Given the description of an element on the screen output the (x, y) to click on. 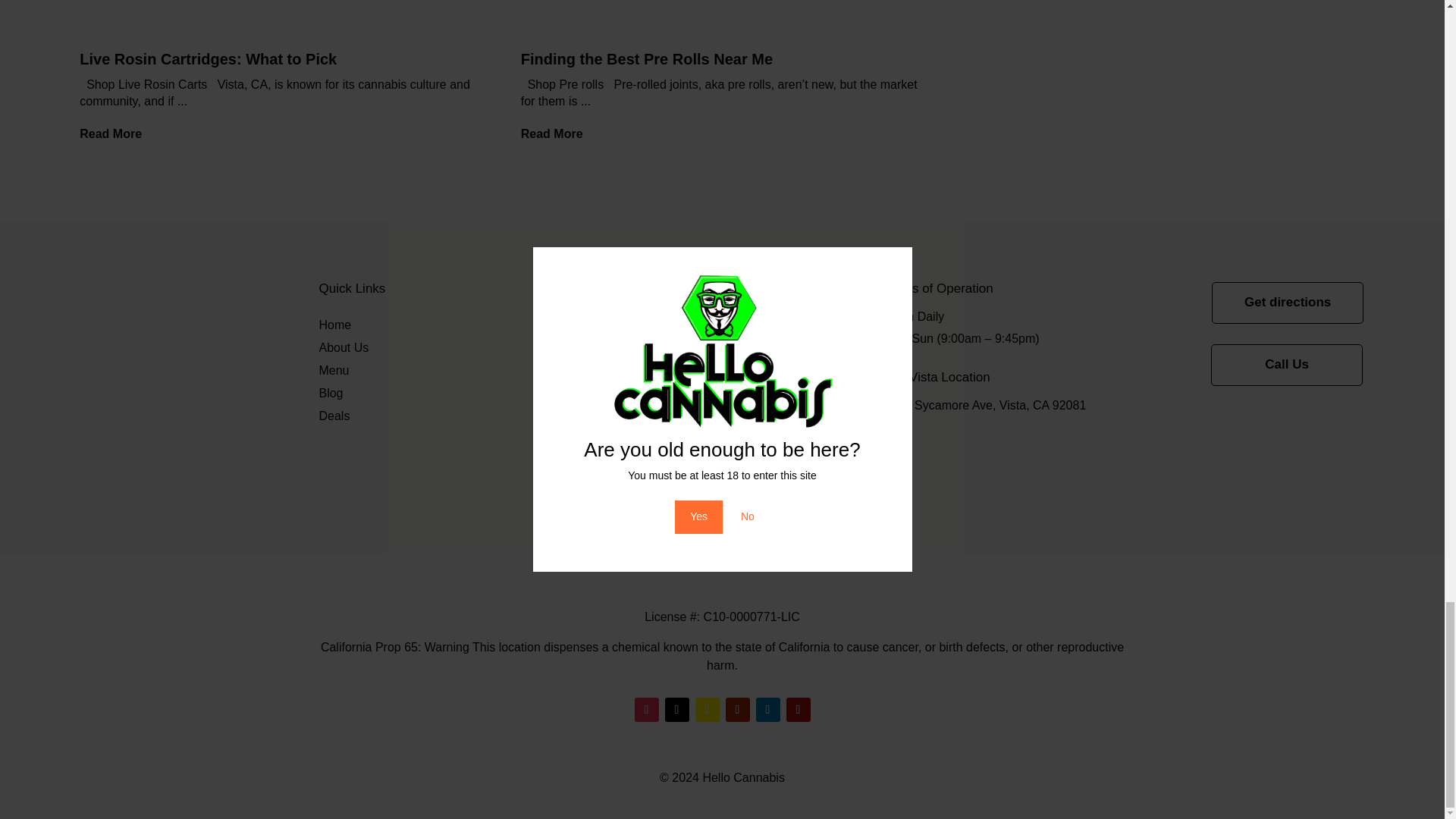
About Us (343, 351)
Follow on Snapchat (706, 709)
Follow on Instagram (645, 709)
Blog (330, 396)
Read More (117, 133)
Read More (558, 133)
Carlsbad (625, 324)
Hello Cannabis letters Logo (138, 383)
Escondido (629, 369)
Deals (333, 419)
Encinitas (625, 347)
Follow on Yelp (797, 709)
Home (334, 328)
Menu (333, 373)
Follow on X (675, 709)
